Given the description of an element on the screen output the (x, y) to click on. 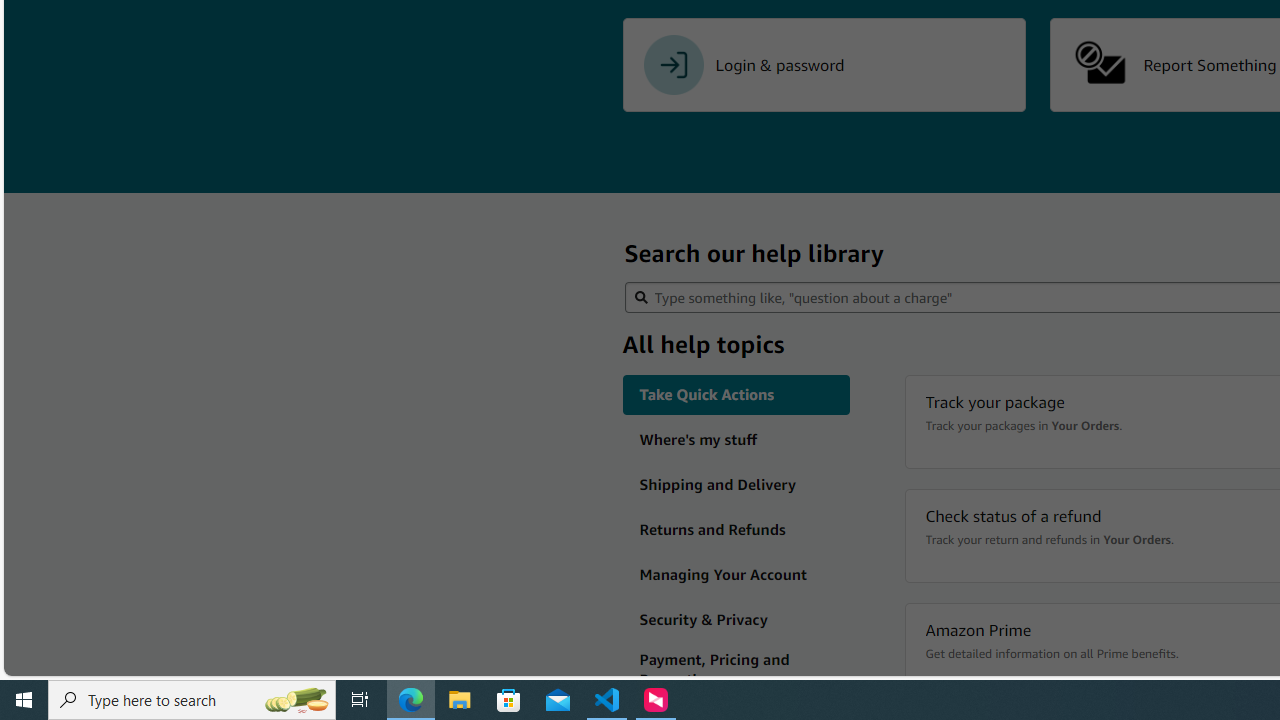
Class: help-topics (735, 669)
Login & password (824, 65)
